Given the description of an element on the screen output the (x, y) to click on. 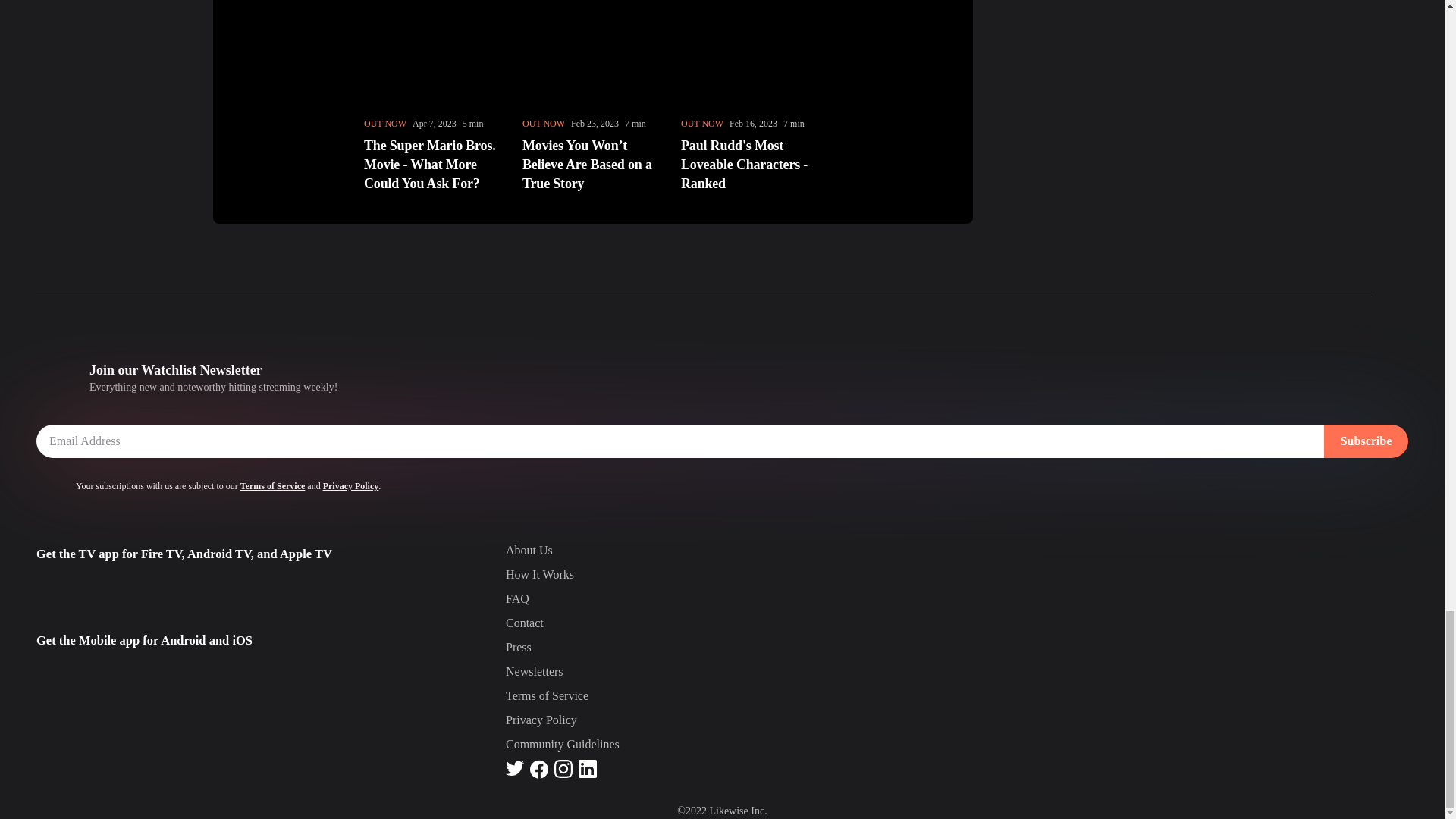
OUT NOW (385, 123)
OUT NOW (543, 123)
The Super Mario Bros. Movie - What More Could You Ask For? (433, 165)
